Given the description of an element on the screen output the (x, y) to click on. 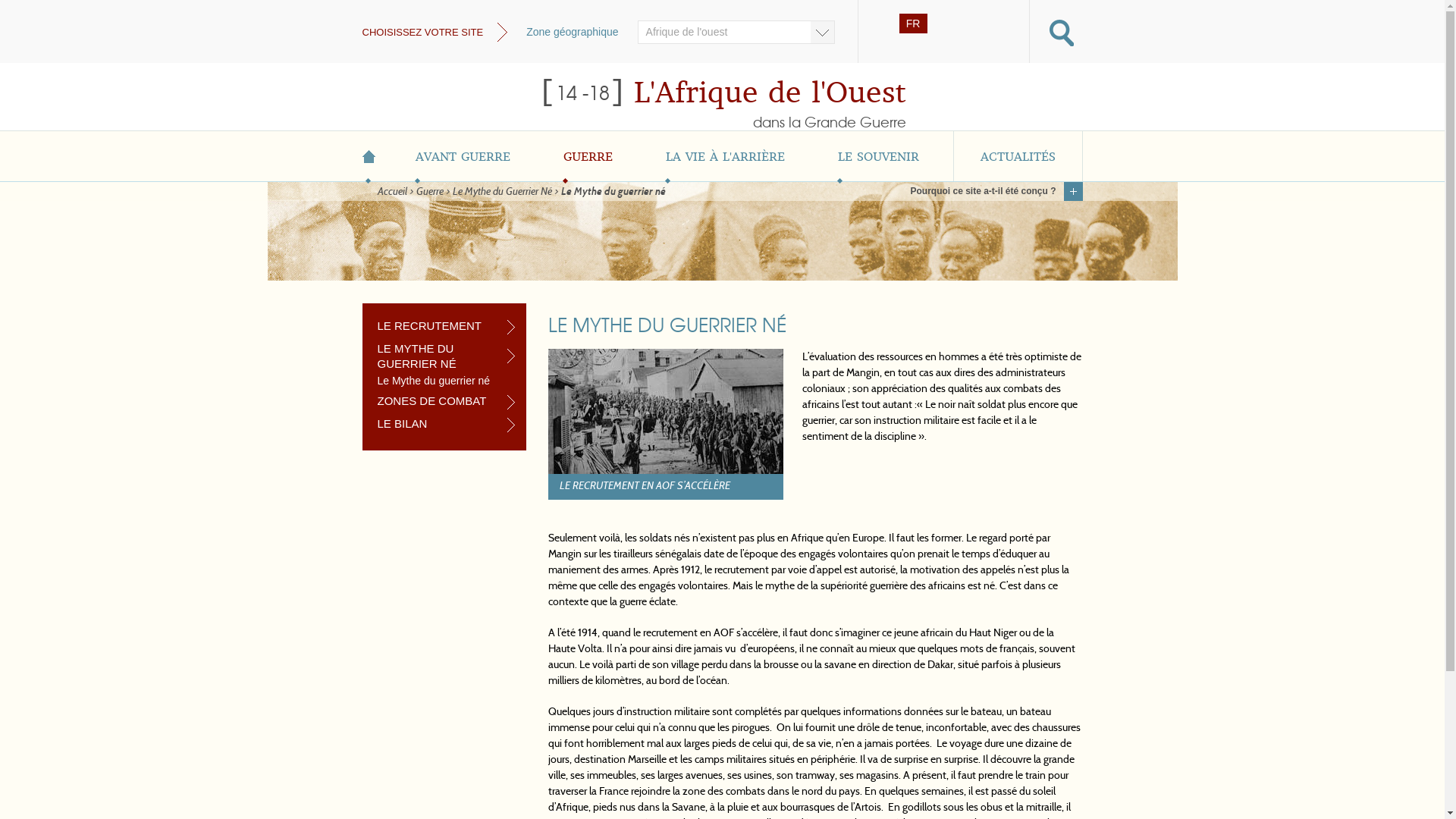
LE SOUVENIR Element type: text (878, 156)
AVANT GUERRE Element type: text (462, 156)
ACCUEIL Element type: text (375, 156)
GUERRE Element type: text (587, 156)
Accueil Element type: text (392, 191)
Guerre Element type: text (428, 191)
LE BILAN Element type: text (445, 423)
Afrique de l'ouest Element type: text (735, 31)
LE RECRUTEMENT Element type: text (445, 325)
ZONES DE COMBAT Element type: text (445, 400)
